Given the description of an element on the screen output the (x, y) to click on. 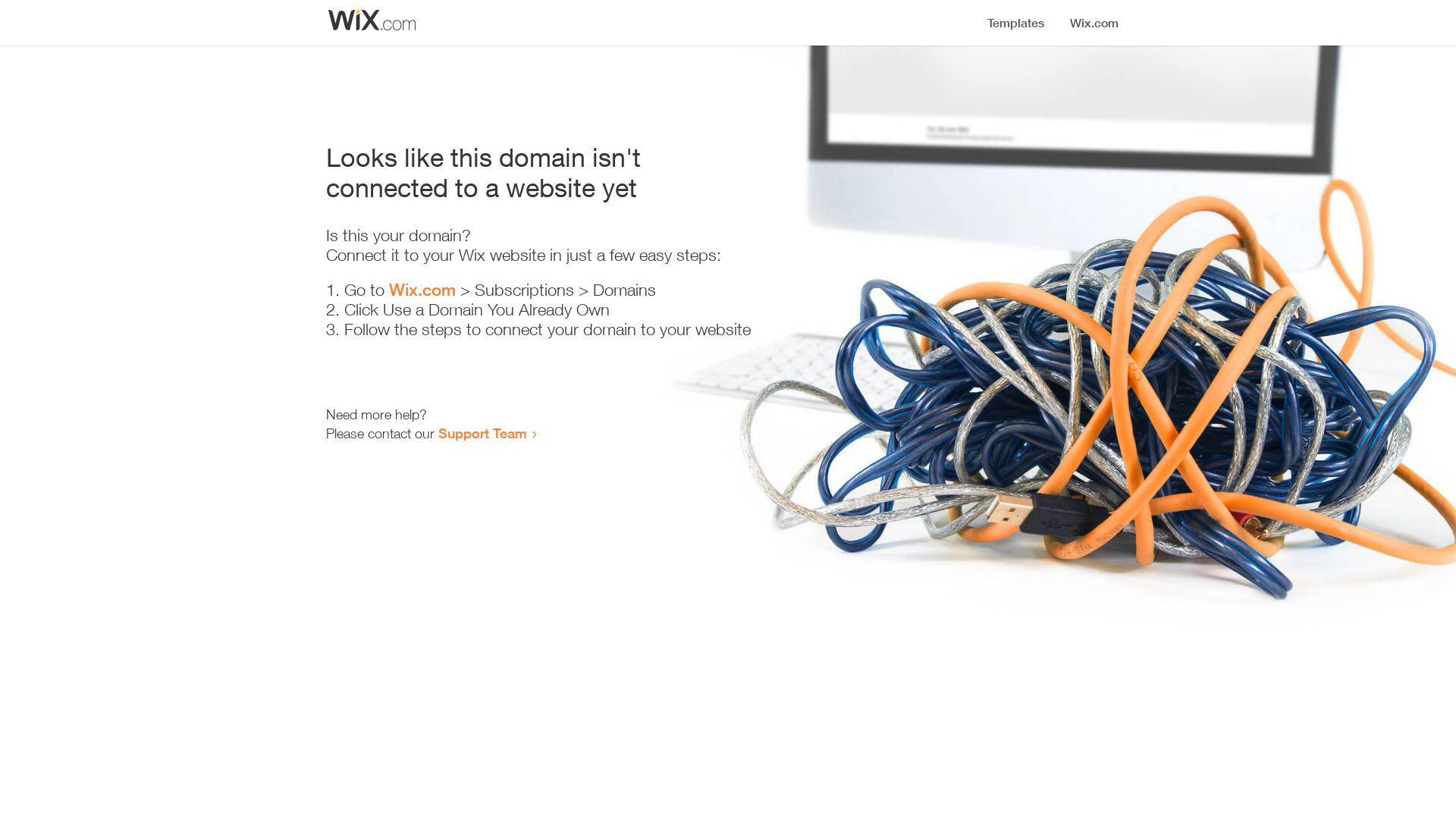
Support Team Element type: text (482, 432)
Wix.com Element type: text (422, 289)
